Given the description of an element on the screen output the (x, y) to click on. 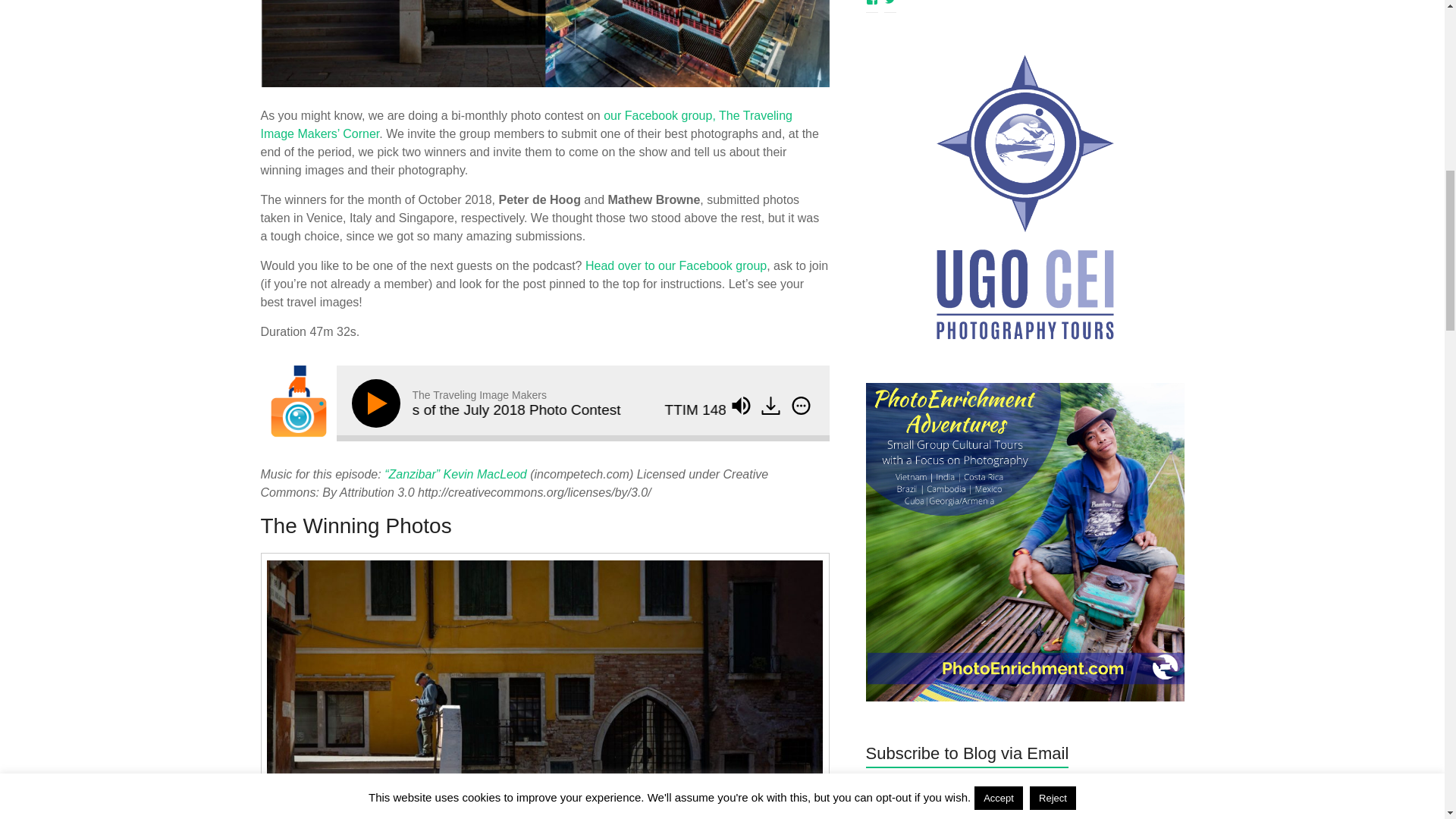
Download (772, 406)
Download (770, 405)
Head over to our Facebook group (676, 265)
More (800, 405)
